Given the description of an element on the screen output the (x, y) to click on. 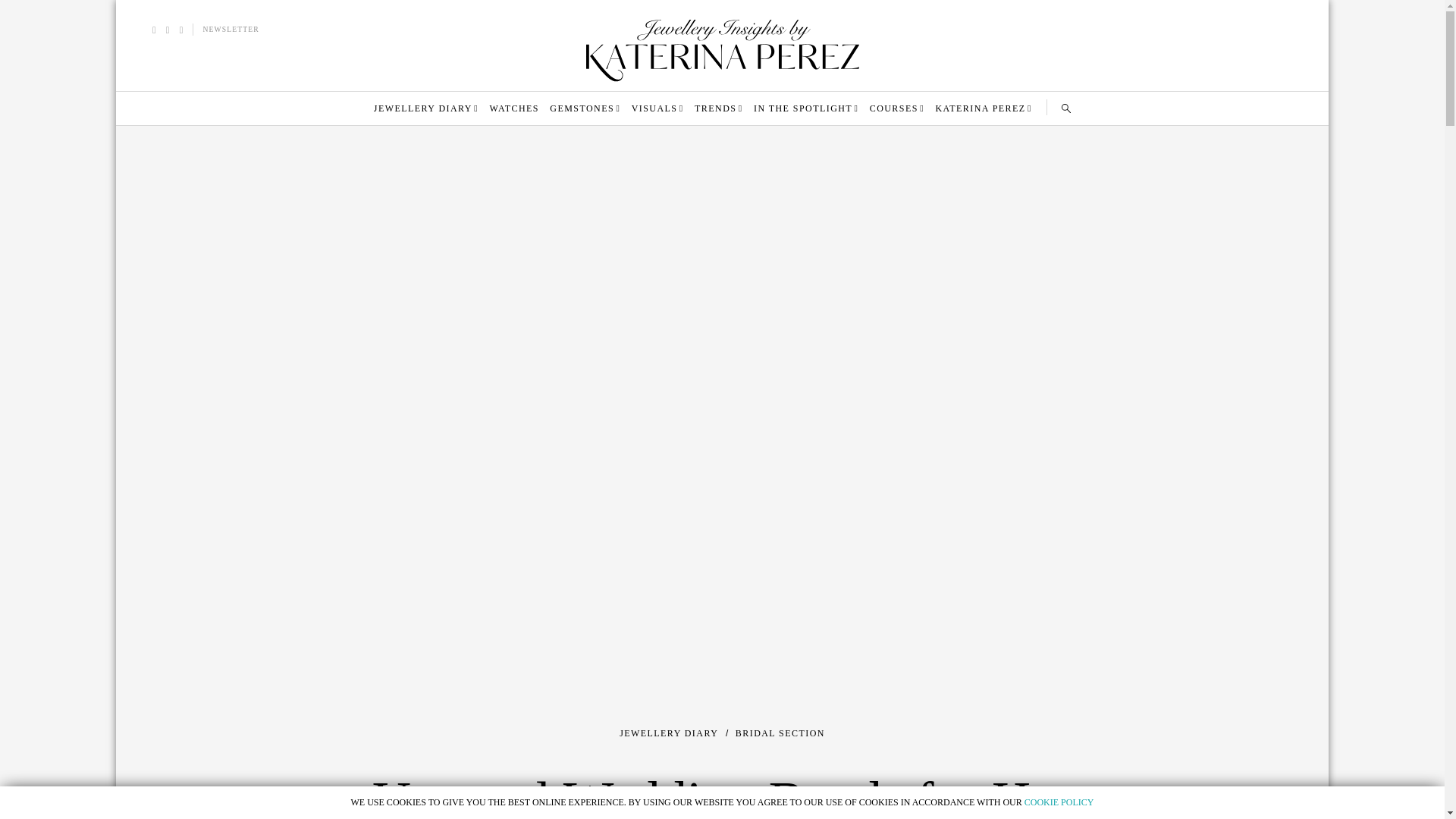
kp-logo (722, 50)
SEARCH (1065, 108)
